Given the description of an element on the screen output the (x, y) to click on. 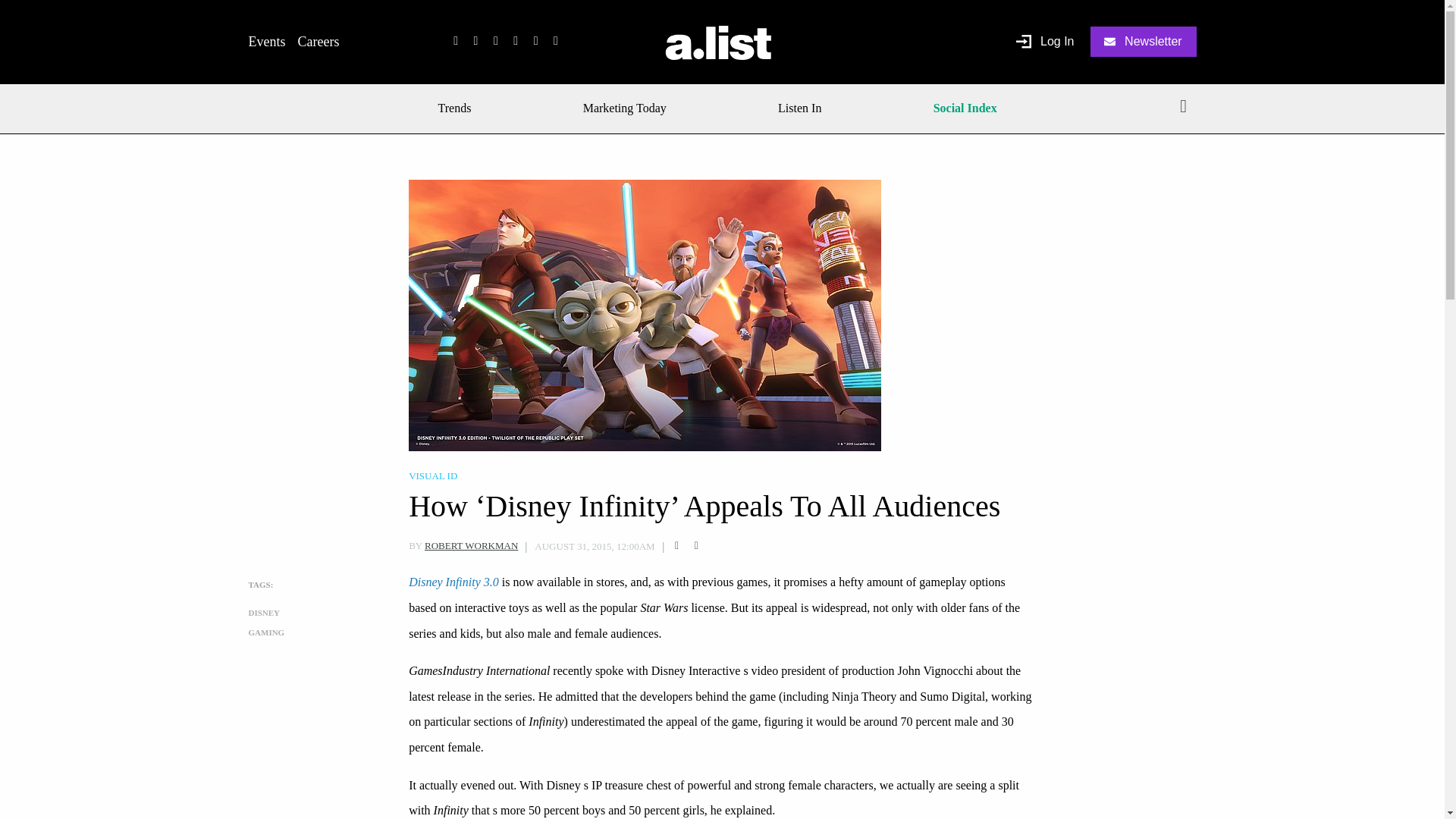
Events (266, 41)
Careers (318, 41)
Listen In (799, 108)
Newsletter (1143, 41)
Social Index (965, 108)
Marketing Today (625, 108)
Log In (1045, 42)
Trends (459, 108)
